Given the description of an element on the screen output the (x, y) to click on. 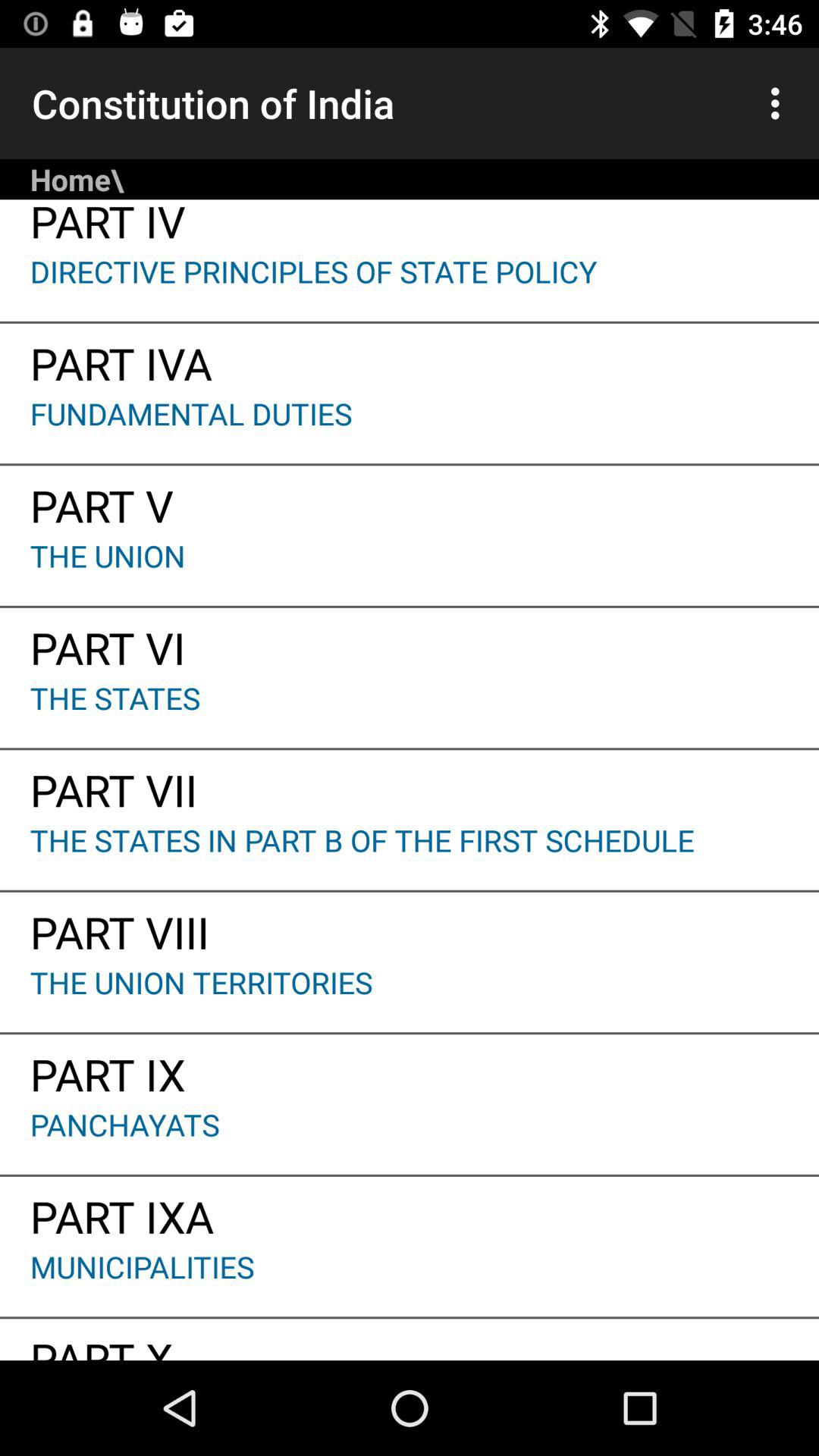
launch app below the fundamental duties item (409, 500)
